Given the description of an element on the screen output the (x, y) to click on. 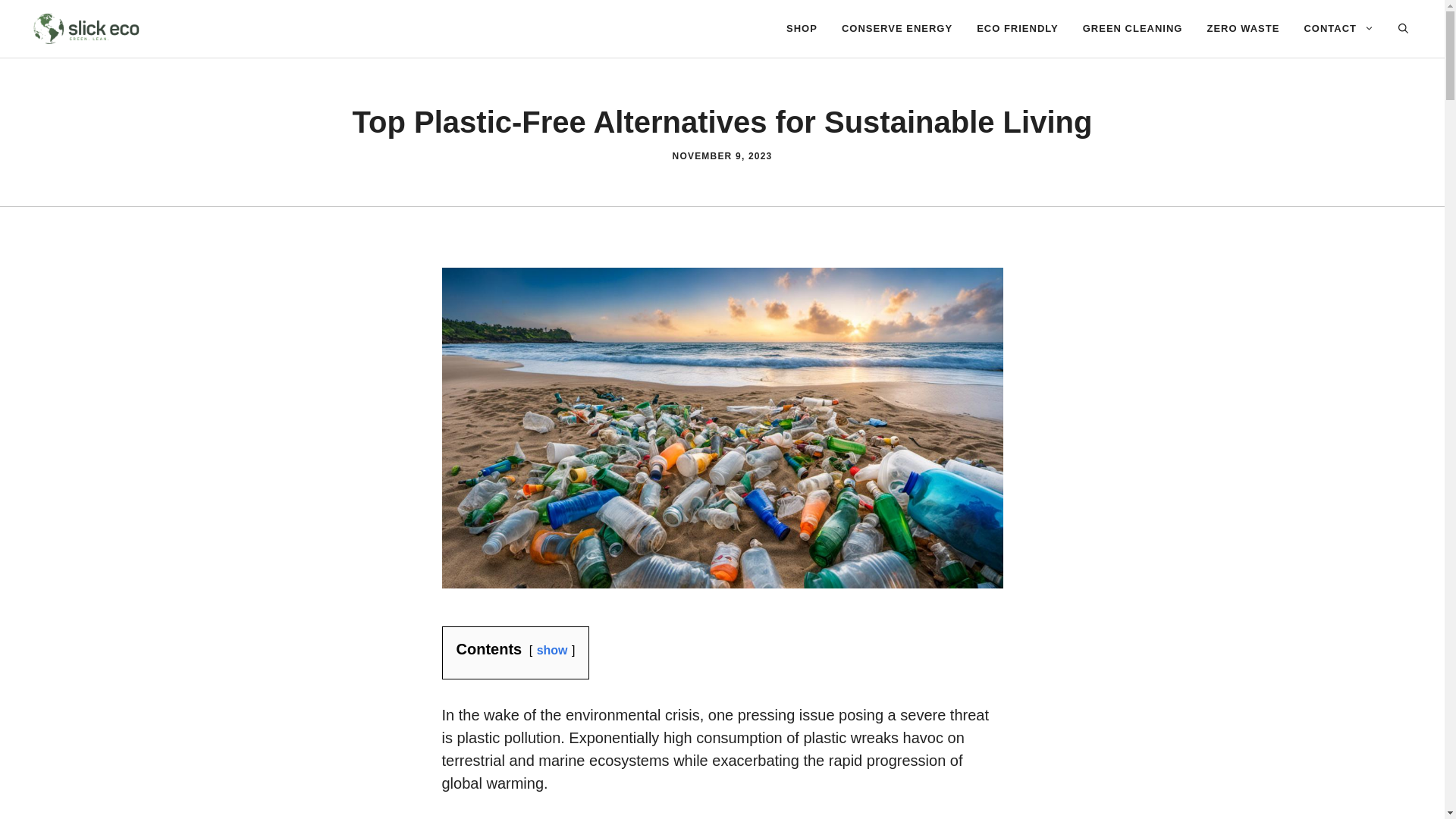
CONTACT (1338, 28)
CONSERVE ENERGY (896, 28)
ZERO WASTE (1242, 28)
GREEN CLEANING (1132, 28)
ECO FRIENDLY (1016, 28)
show (552, 649)
SHOP (801, 28)
